Given the description of an element on the screen output the (x, y) to click on. 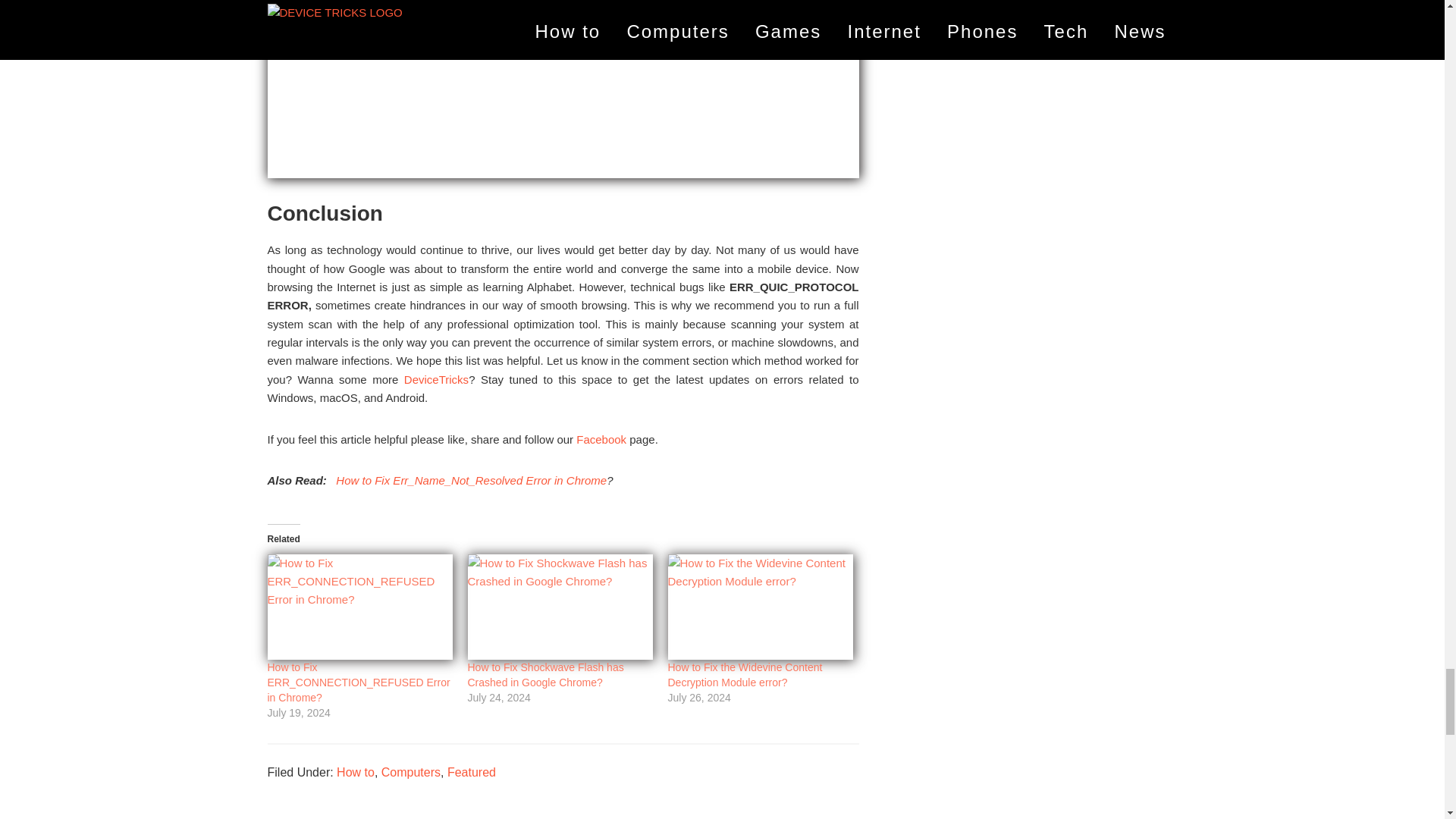
Facebook (601, 438)
Computers (411, 771)
How to Fix the Widevine Content Decryption Module error? (744, 674)
Featured (471, 771)
DeviceTricks (436, 379)
How to Fix Shockwave Flash has Crashed in Google Chrome? (545, 674)
How to (355, 771)
